Given the description of an element on the screen output the (x, y) to click on. 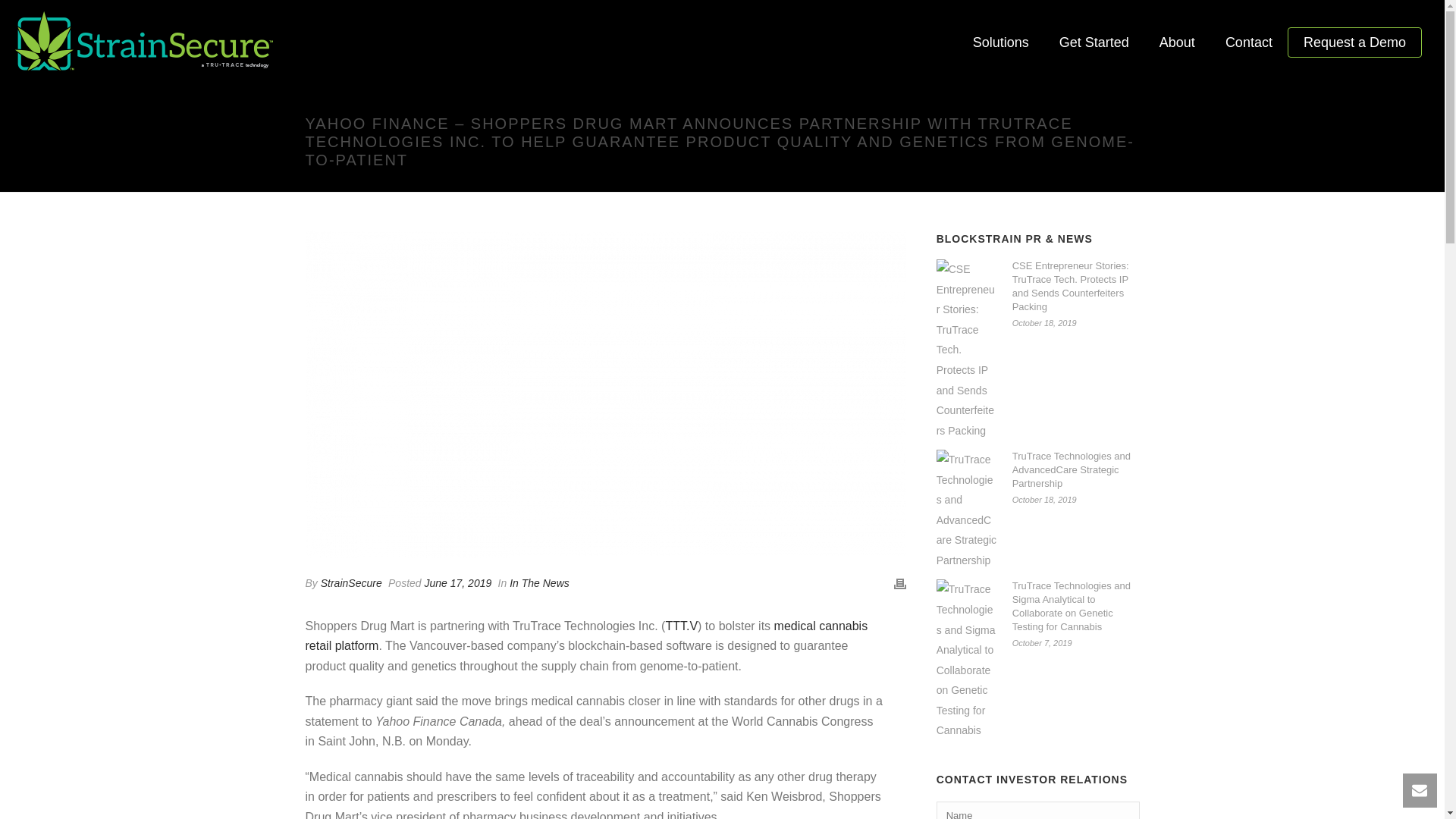
Solutions (1000, 42)
Request a Demo (1354, 42)
StrainSecure (350, 582)
Get Started (1093, 42)
Contact (1248, 42)
Contact (1248, 42)
Solutions (1000, 42)
Print (899, 583)
TTT.V (681, 625)
TruTrace Technologies and AdvancedCare Strategic Partnership (966, 509)
Request a Demo (1354, 42)
Get Started (1093, 42)
